Given the description of an element on the screen output the (x, y) to click on. 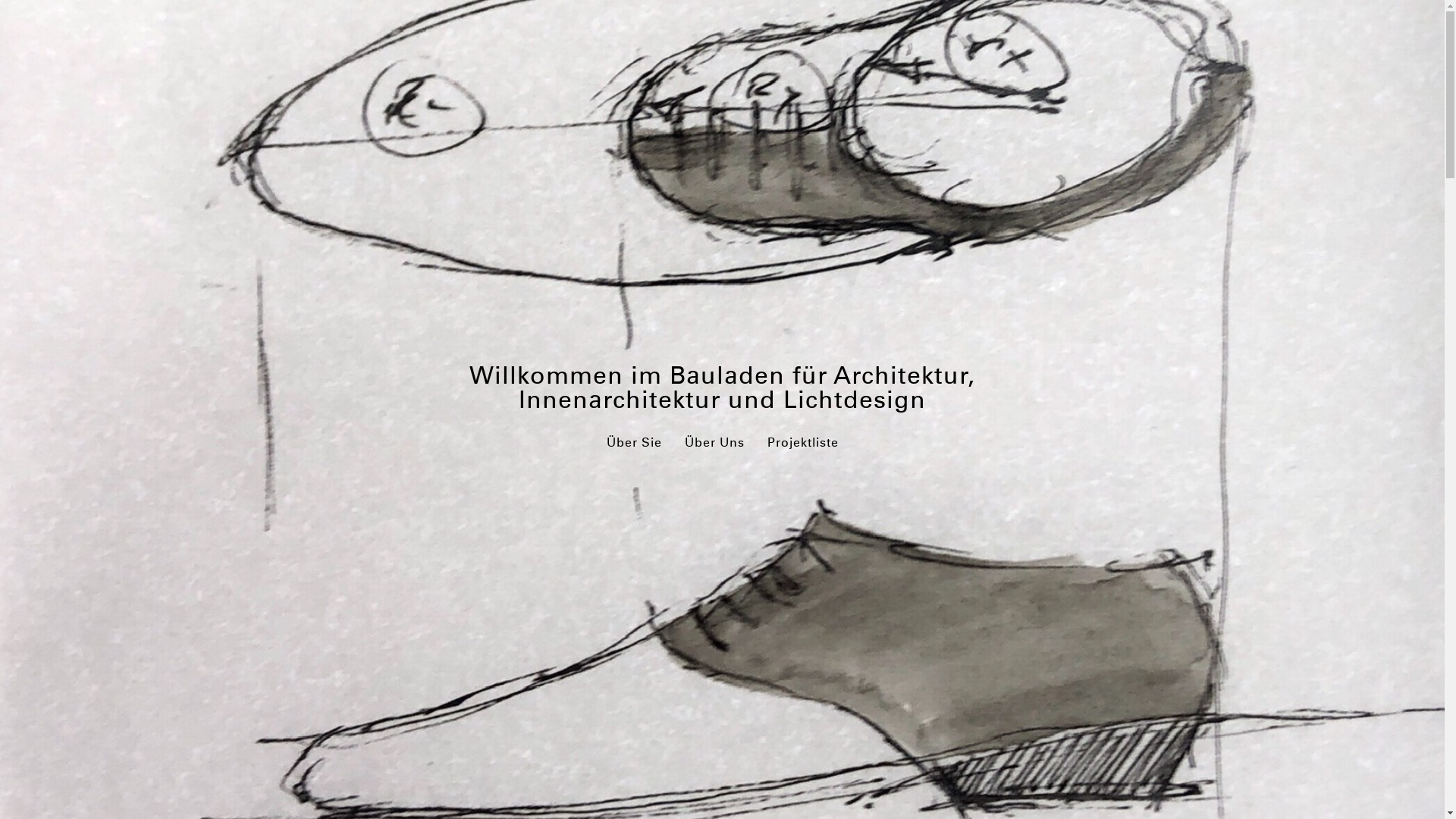
Projektliste Element type: text (802, 442)
